Given the description of an element on the screen output the (x, y) to click on. 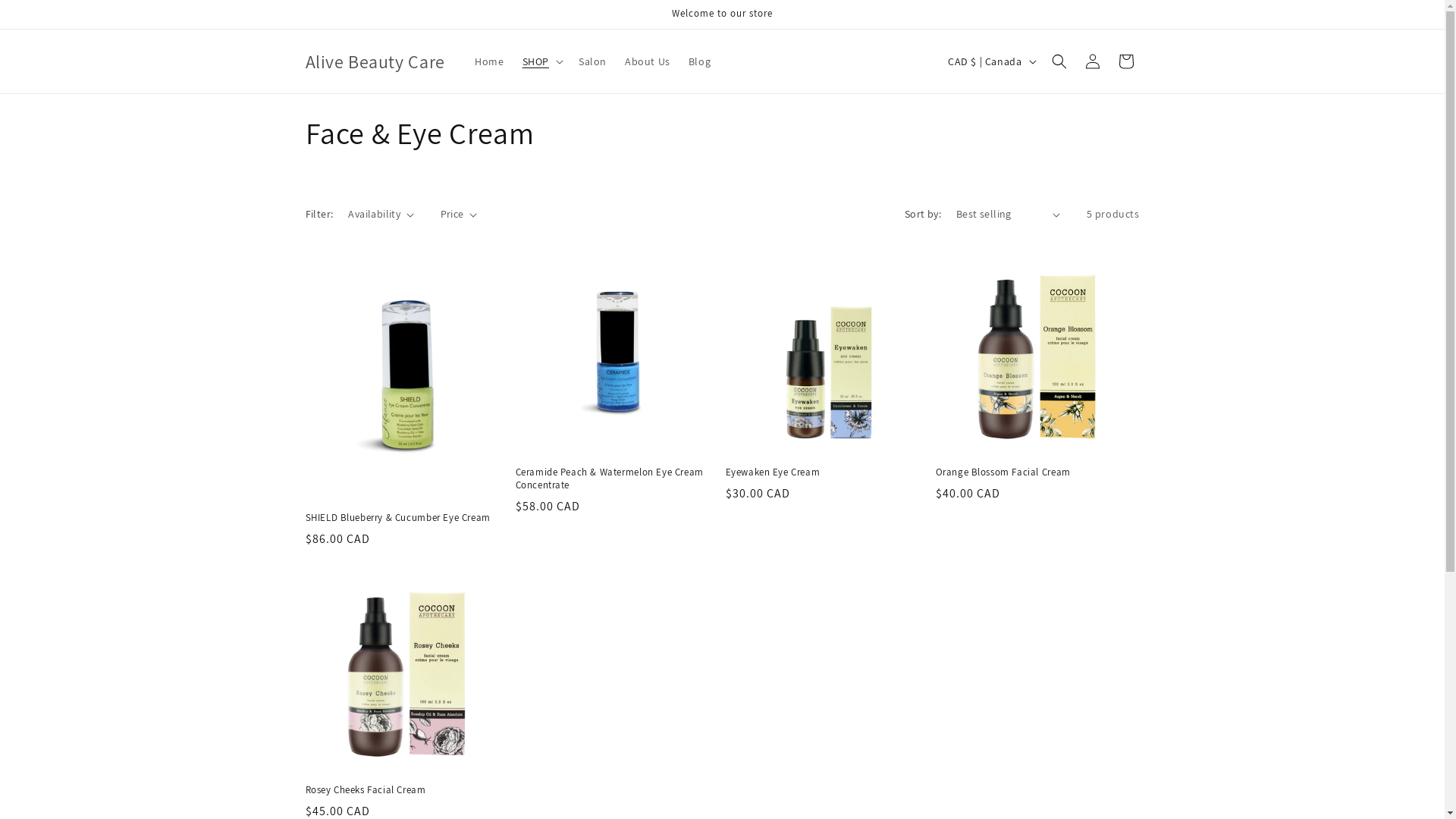
Cart Element type: text (1125, 61)
About Us Element type: text (647, 61)
Log in Element type: text (1091, 61)
Rosey Cheeks Facial Cream Element type: text (406, 790)
Eyewaken Eye Cream Element type: text (826, 472)
Blog Element type: text (699, 61)
SHIELD Blueberry & Cucumber Eye Cream Element type: text (406, 517)
Home Element type: text (488, 61)
Ceramide Peach & Watermelon Eye Cream Concentrate Element type: text (617, 479)
Alive Beauty Care Element type: text (374, 61)
CAD $ | Canada Element type: text (989, 61)
Salon Element type: text (592, 61)
Orange Blossom Facial Cream Element type: text (1037, 472)
